Given the description of an element on the screen output the (x, y) to click on. 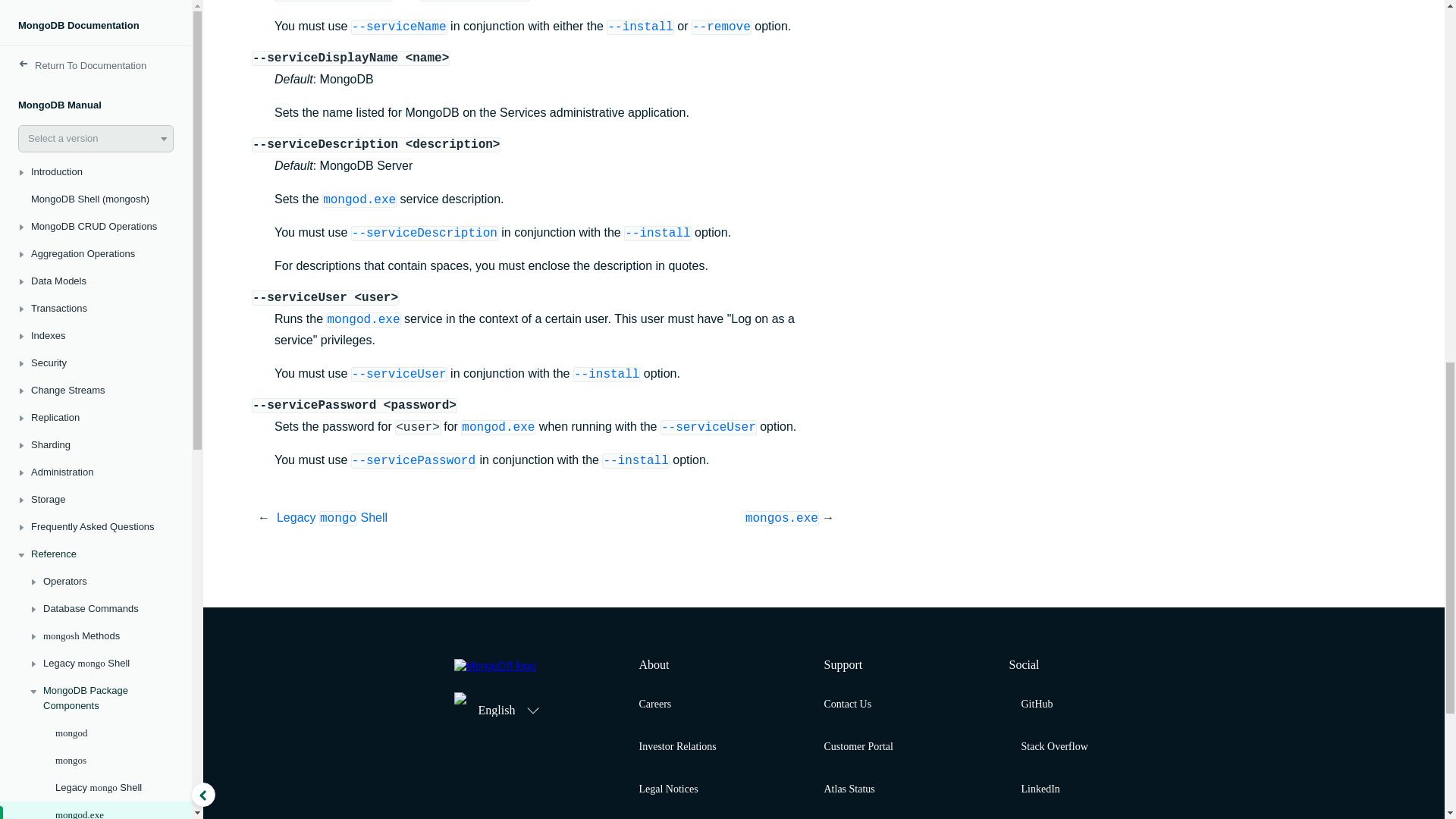
mongokerberos (96, 77)
Connection String URI Format (96, 319)
Previous Section (411, 517)
mongoldap (96, 50)
System Collections (96, 284)
MongoDB Limits and Thresholds (96, 221)
Configuration File Options (96, 159)
mongos.exe (96, 22)
MongoDB Database Tools (96, 132)
Explain Results (96, 257)
